Given the description of an element on the screen output the (x, y) to click on. 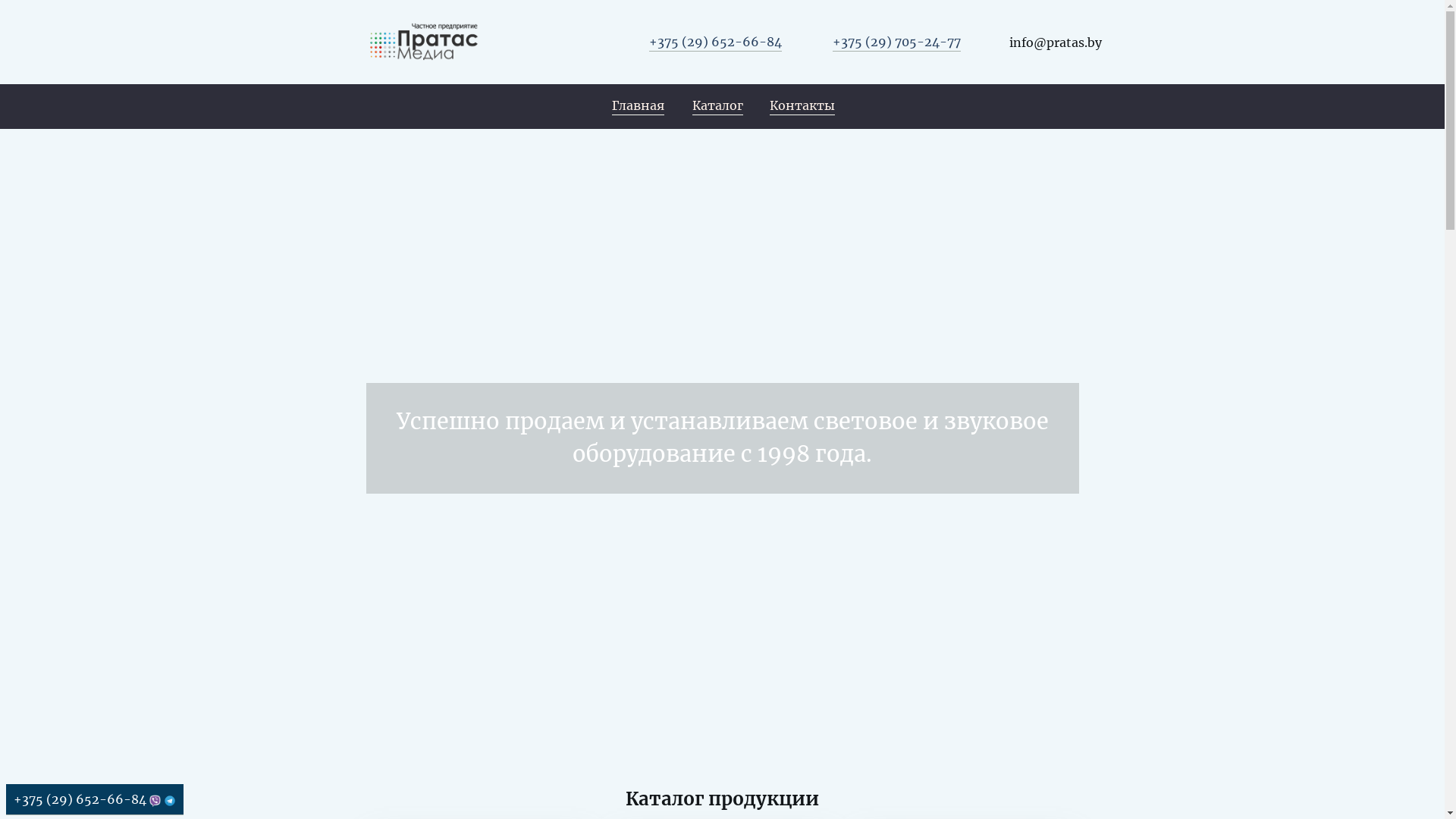
+375 (29) 652-66-84 Element type: text (715, 41)
+375 (29) 705-24-77 Element type: text (896, 41)
+375 (29) 652-66-84 Element type: text (94, 799)
